Given the description of an element on the screen output the (x, y) to click on. 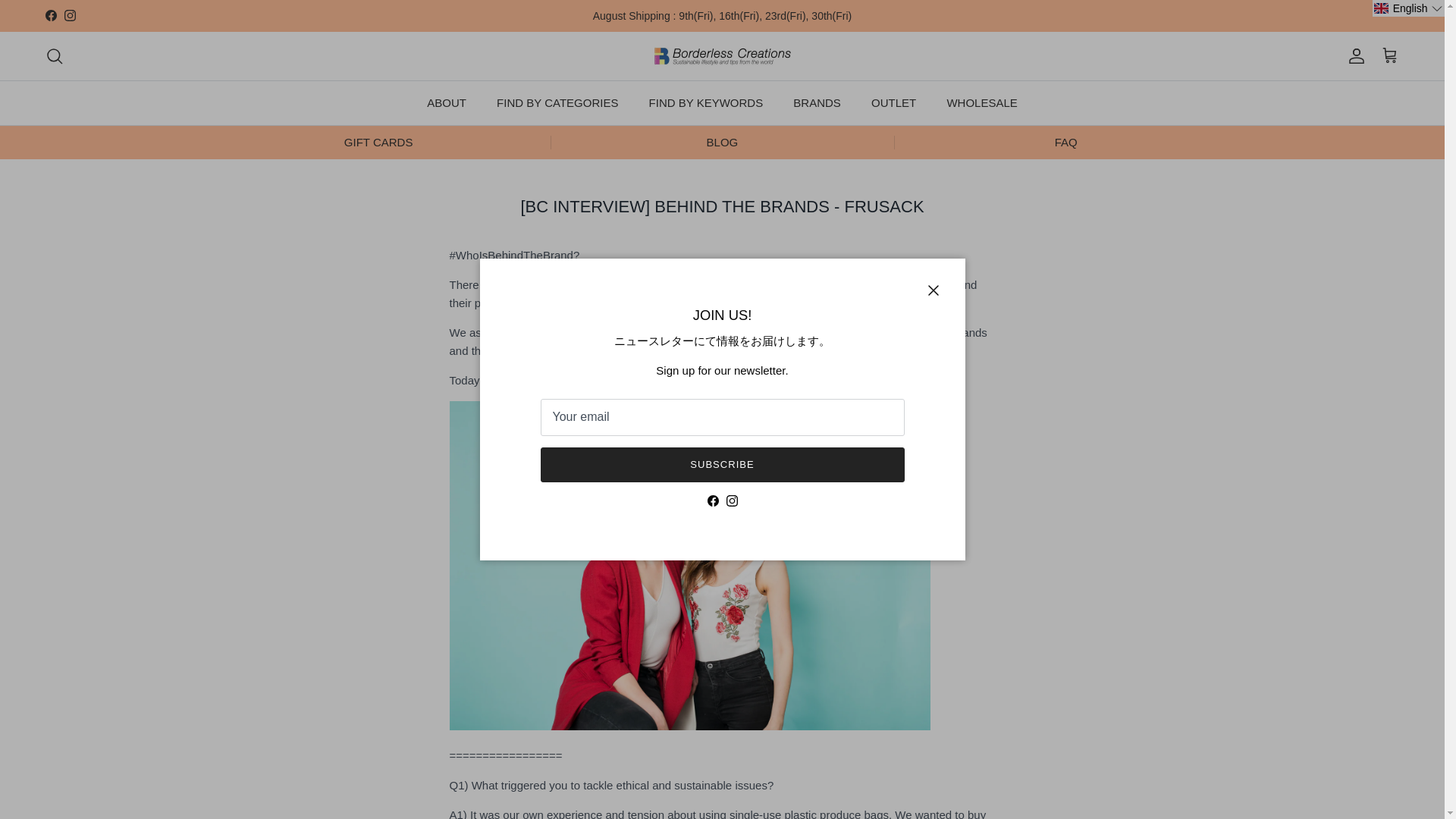
Facebook (50, 15)
ABOUT (446, 103)
FIND BY CATEGORIES (557, 103)
Borderless Creations on Facebook (50, 15)
FIND BY KEYWORDS (705, 103)
Borderless Creations on Instagram (69, 15)
Borderless Creations (721, 55)
Cart (1389, 55)
WHOLESALE (981, 103)
Search (54, 55)
Borderless Creations on Instagram (732, 500)
Account (1352, 55)
Borderless Creations on Facebook (711, 500)
OUTLET (893, 103)
Instagram (69, 15)
